Given the description of an element on the screen output the (x, y) to click on. 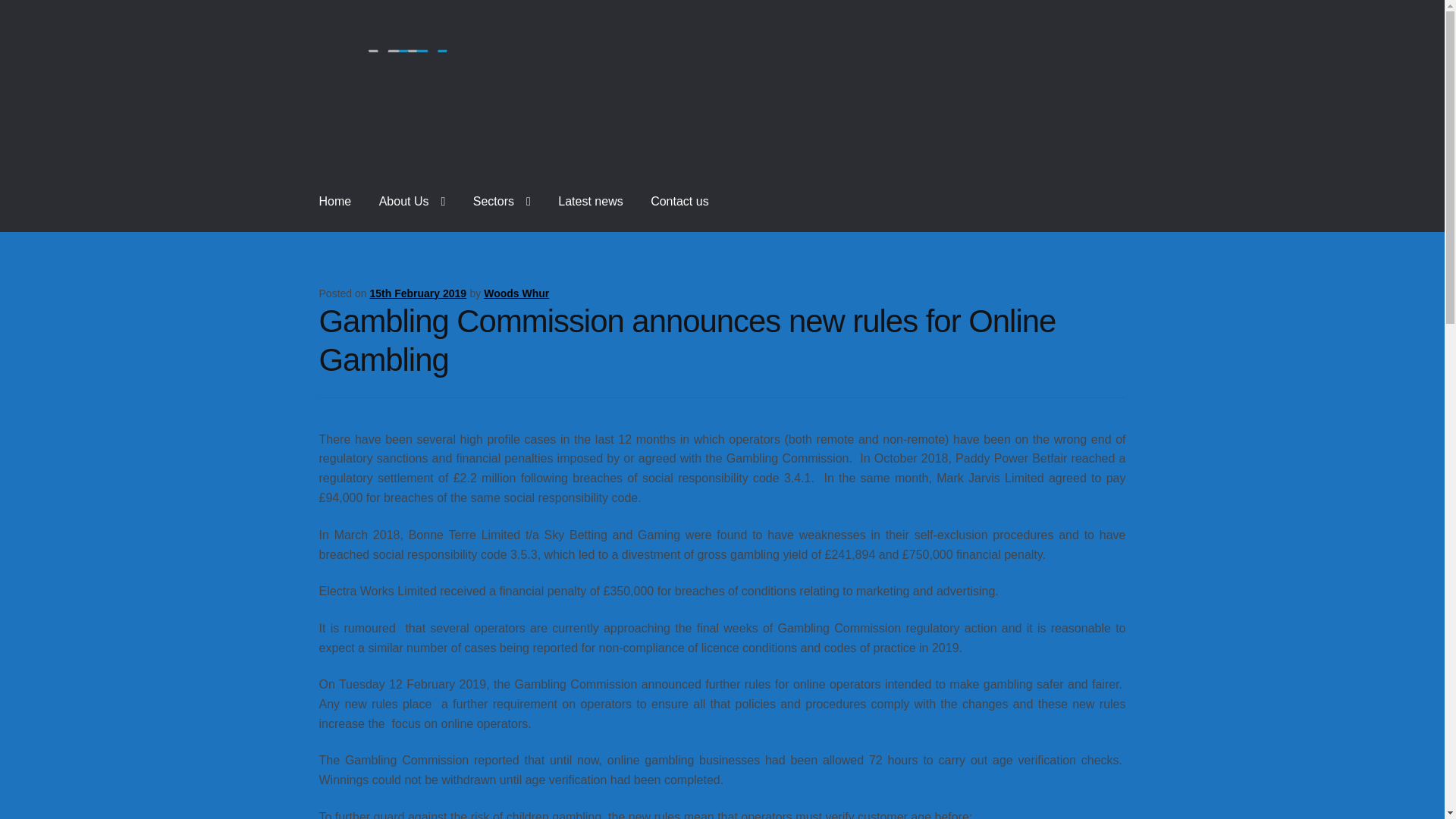
Sectors (502, 200)
Home (335, 200)
Contact us (679, 200)
About Us (412, 200)
Latest news (590, 200)
